Given the description of an element on the screen output the (x, y) to click on. 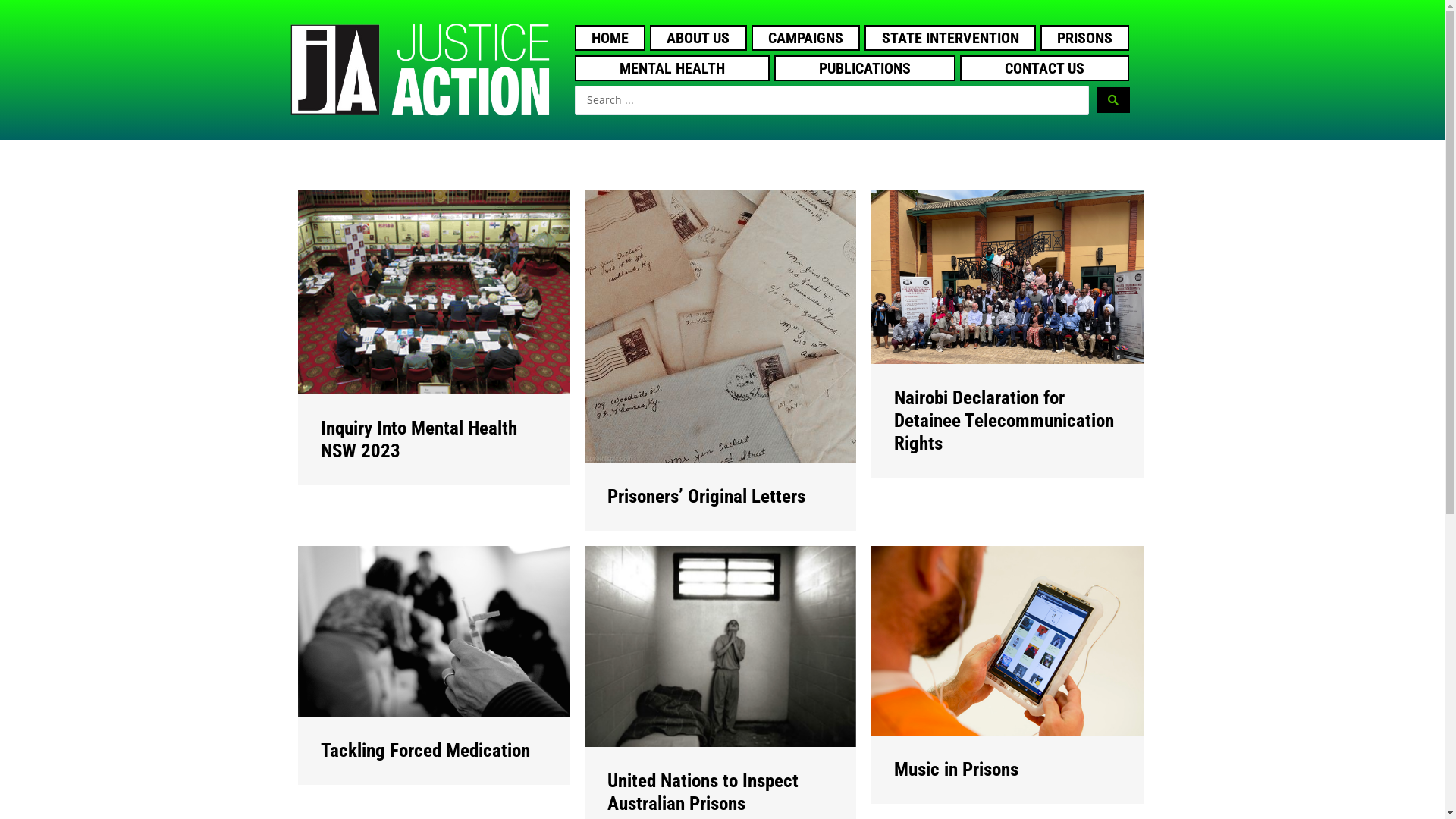
CONTACT US Element type: text (1044, 68)
Inquiry Into Mental Health NSW 2023 Element type: text (418, 439)
STATE INTERVENTION Element type: text (949, 37)
PRISONS Element type: text (1084, 37)
Tackling Forced Medication Element type: text (424, 750)
ABOUT US Element type: text (697, 37)
PUBLICATIONS Element type: text (864, 68)
Music in Prisons Element type: text (956, 769)
Nairobi Declaration for Detainee Telecommunication Rights Element type: text (1003, 420)
HOME Element type: text (610, 37)
Tackling Forced Medication Element type: hover (432, 629)
MENTAL HEALTH Element type: text (671, 68)
United Nations to Inspect Australian Prisons Element type: hover (720, 644)
Nairobi Declaration for Detainee Telecommunication Rights Element type: hover (1006, 275)
United Nations to Inspect Australian Prisons Element type: text (702, 791)
Music in Prisons Element type: hover (1006, 639)
Inquiry Into Mental Health NSW 2023 Element type: hover (432, 291)
CAMPAIGNS Element type: text (805, 37)
